Given the description of an element on the screen output the (x, y) to click on. 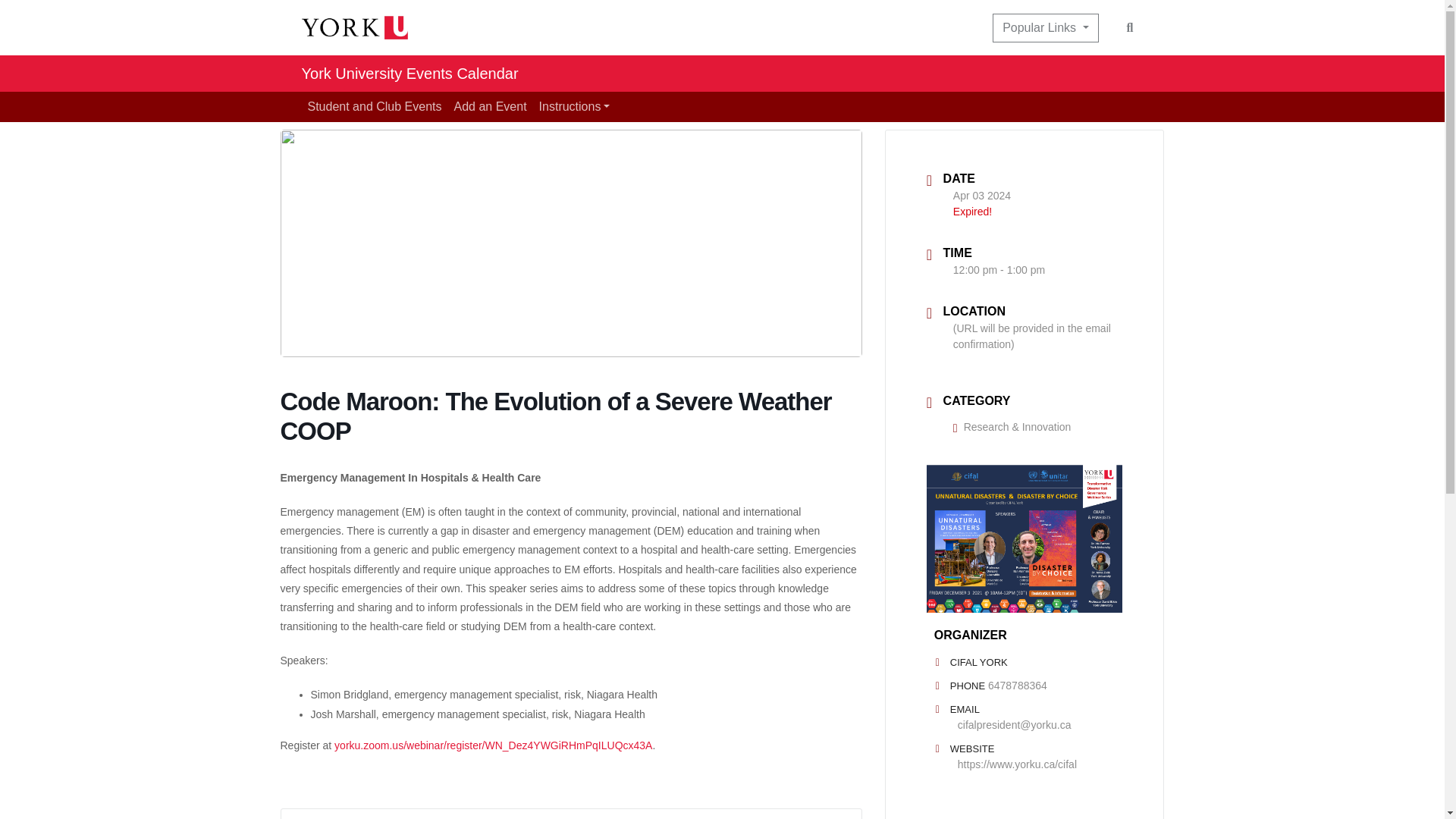
Student and Club Events (374, 106)
6478788364 (1017, 685)
Instructions (573, 106)
Search (1129, 27)
York University Events Calendar (409, 73)
Add an Event (490, 106)
Popular Links (1044, 27)
